Given the description of an element on the screen output the (x, y) to click on. 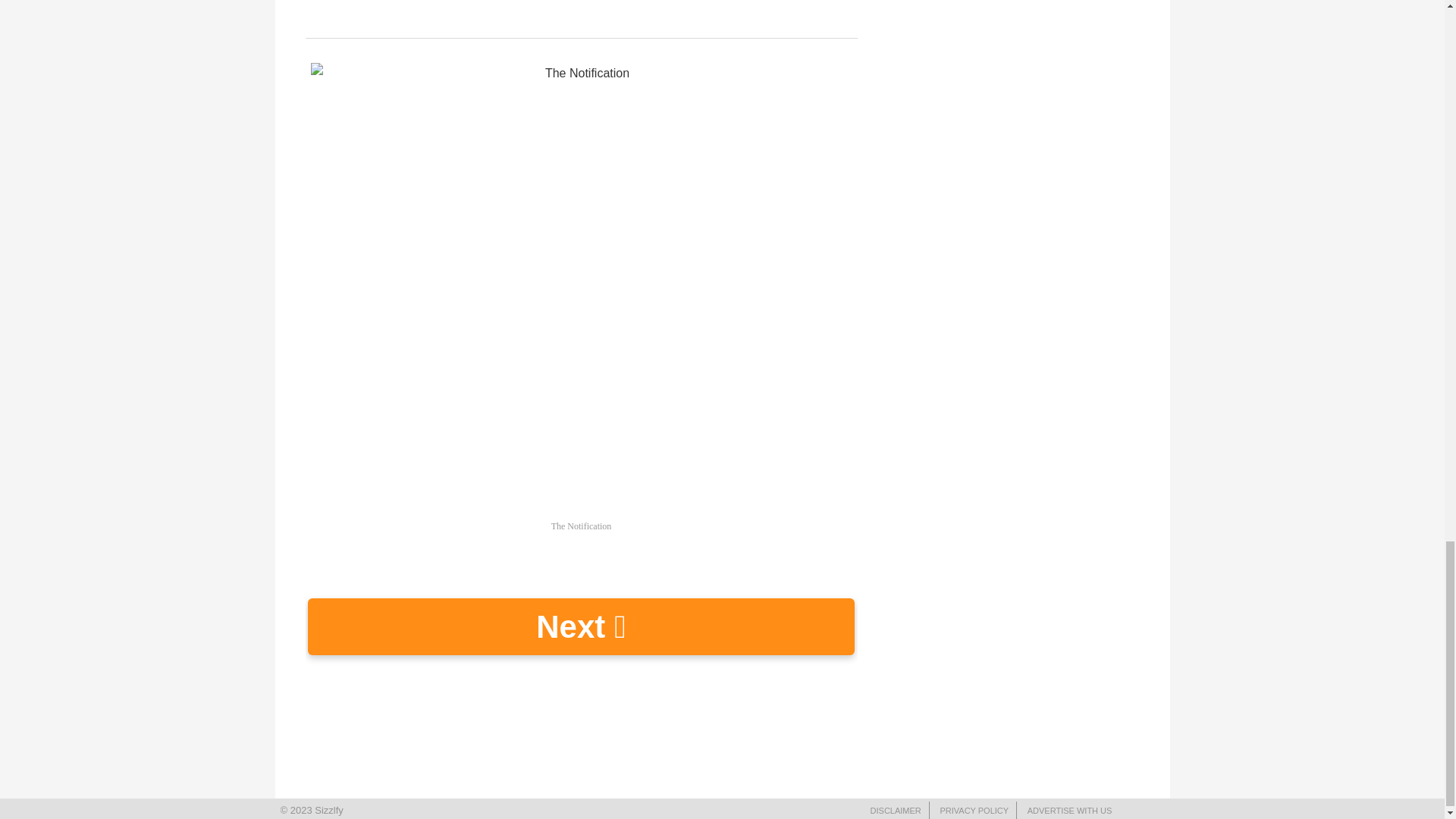
Next (580, 626)
ADVERTISE WITH US (1069, 809)
DISCLAIMER (895, 809)
PRIVACY POLICY (974, 809)
